Given the description of an element on the screen output the (x, y) to click on. 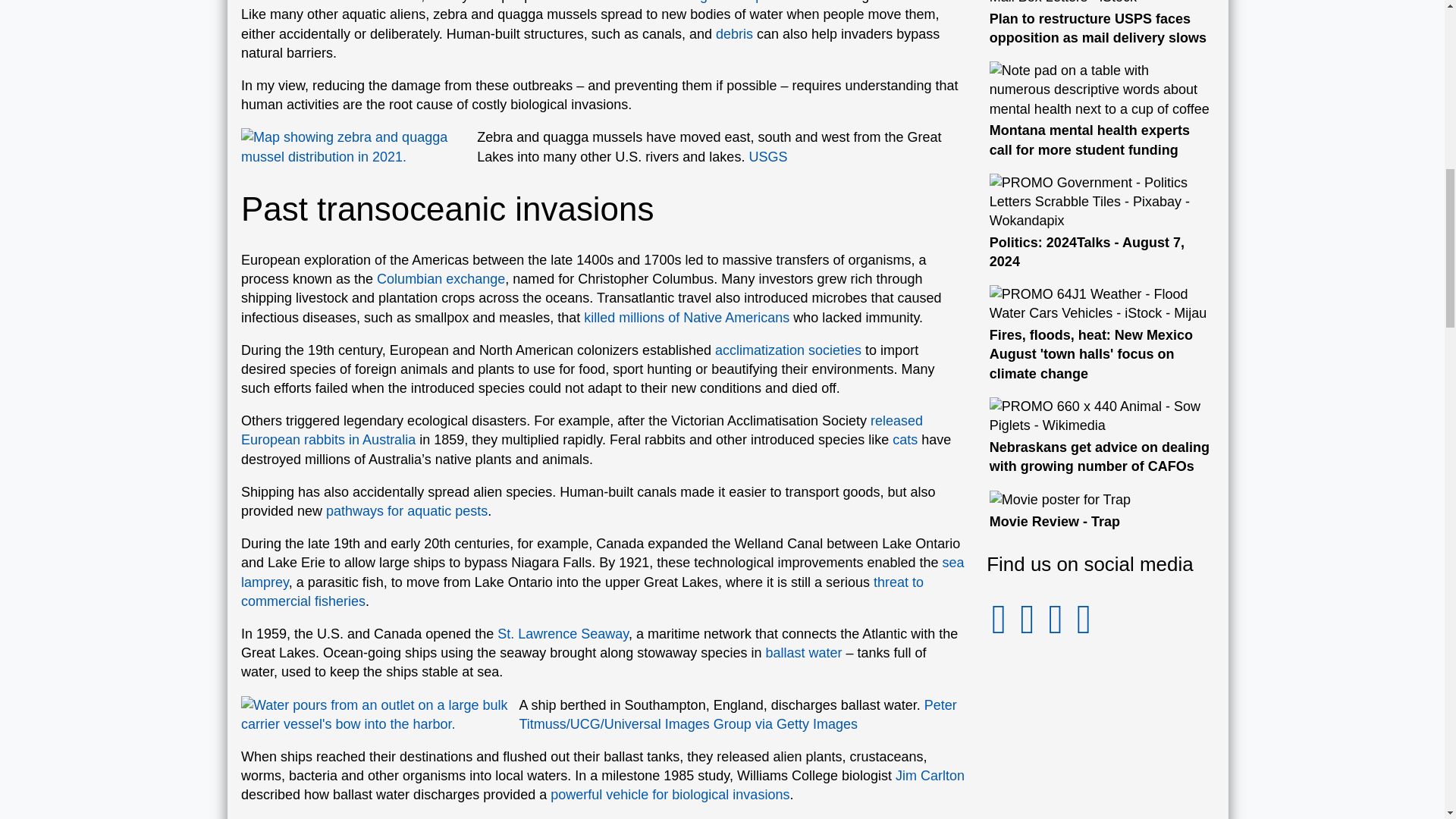
species (771, 1)
threat to commercial fisheries (582, 591)
USGS (767, 156)
released European rabbits in Australia (582, 430)
sea lamprey (602, 571)
St. Lawrence Seaway (562, 633)
Columbian exchange (441, 278)
environmental historian (349, 1)
nonindigenous (700, 1)
